Given the description of an element on the screen output the (x, y) to click on. 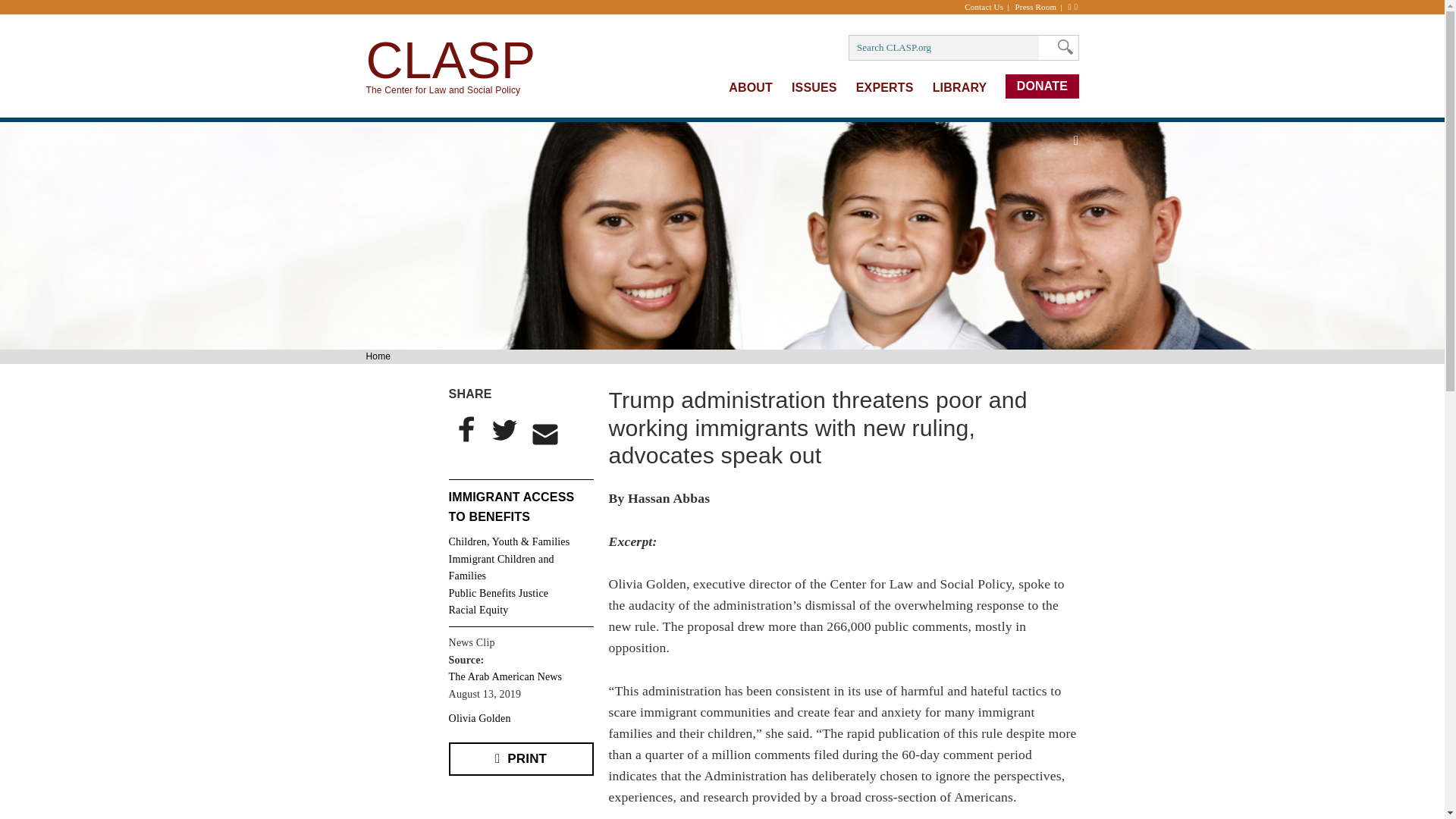
Contact Us (987, 6)
Contact Us (987, 6)
Display a printer-friendly version of this page. (521, 758)
Press Room (1039, 6)
CLASP (450, 59)
Press Room (1039, 6)
Email (545, 434)
Facebook (466, 429)
Search (1060, 47)
Twitter (502, 429)
ABOUT (751, 87)
Search (1060, 47)
CLASP (450, 59)
ISSUES (814, 87)
